Given the description of an element on the screen output the (x, y) to click on. 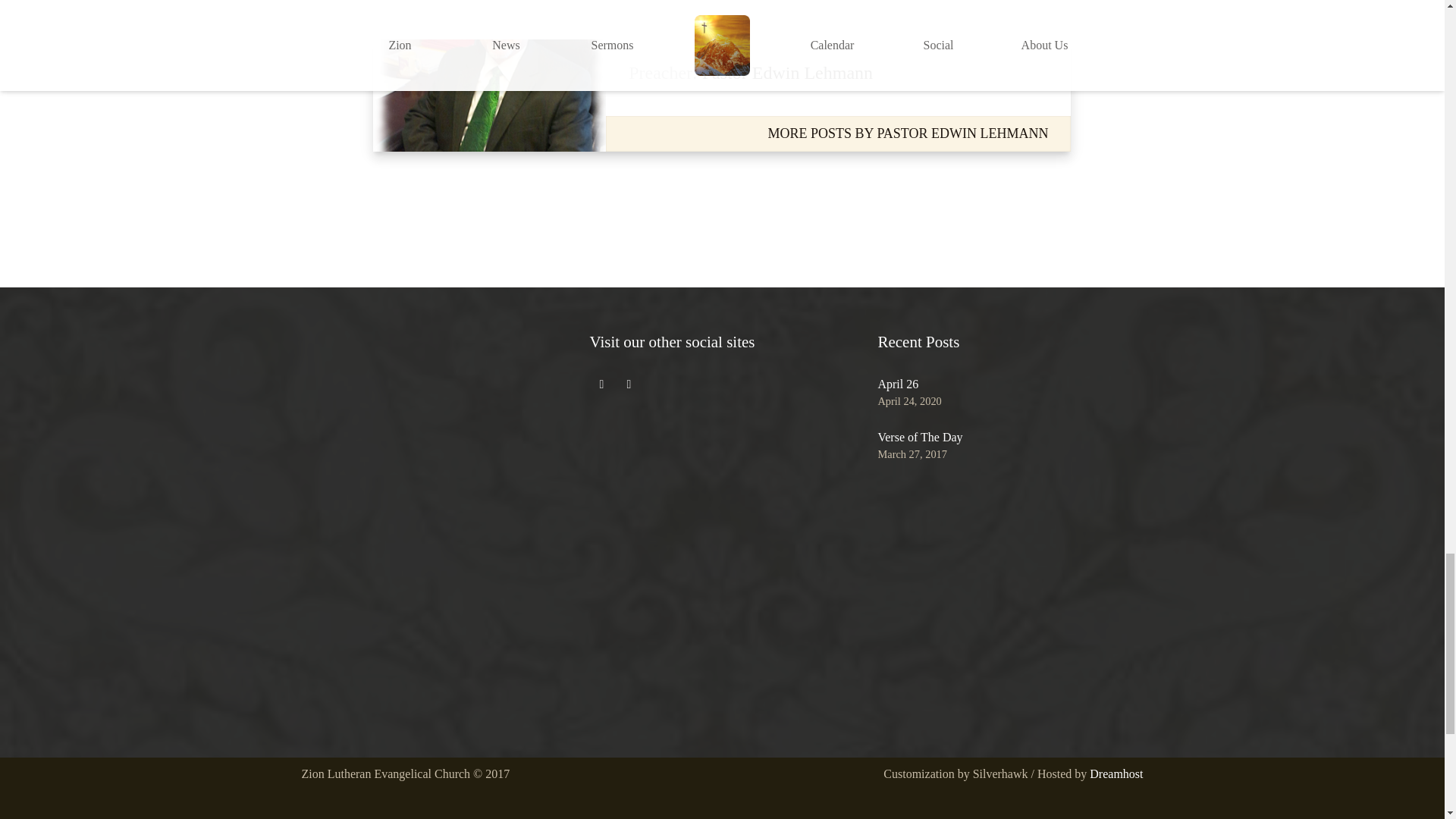
Dreamhost (1115, 773)
Verse of The Day (919, 436)
MORE POSTS BY PASTOR EDWIN LEHMANN (908, 133)
April 26 (897, 383)
